Given the description of an element on the screen output the (x, y) to click on. 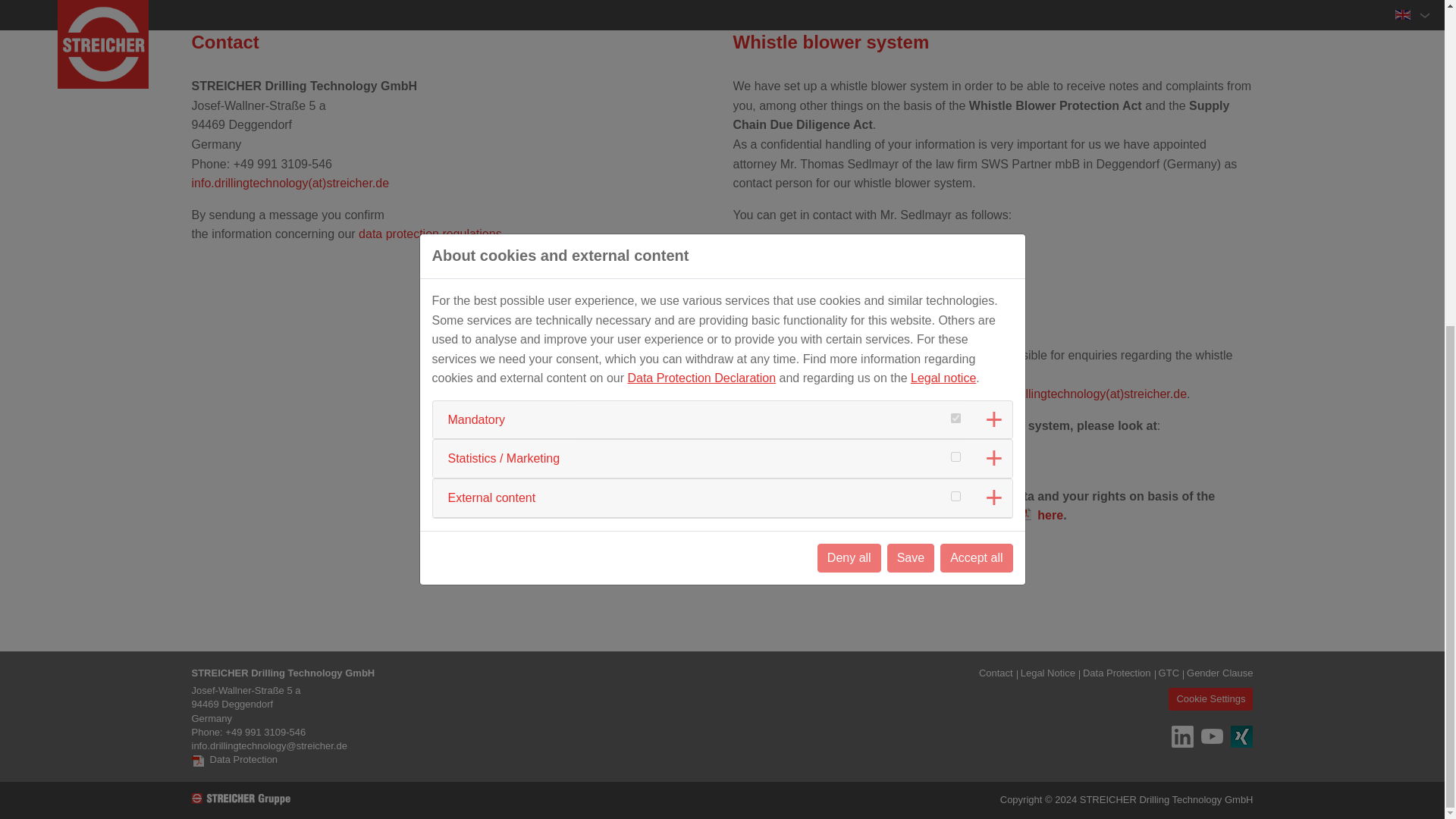
GTC (1168, 672)
Contact (995, 672)
Data protection information for the Whistle blower system  (1040, 515)
Rules of Procedure (793, 445)
BOP Recertification (1083, 4)
Legal Notice (1047, 672)
Modular Drilling Rigs (361, 4)
Data Protection (234, 759)
FAQs (756, 465)
data protection regulations (430, 233)
here (1040, 515)
Rules of Procedure (793, 445)
Legal Notice (1047, 672)
Data Protection (1117, 672)
FAQs (756, 465)
